Given the description of an element on the screen output the (x, y) to click on. 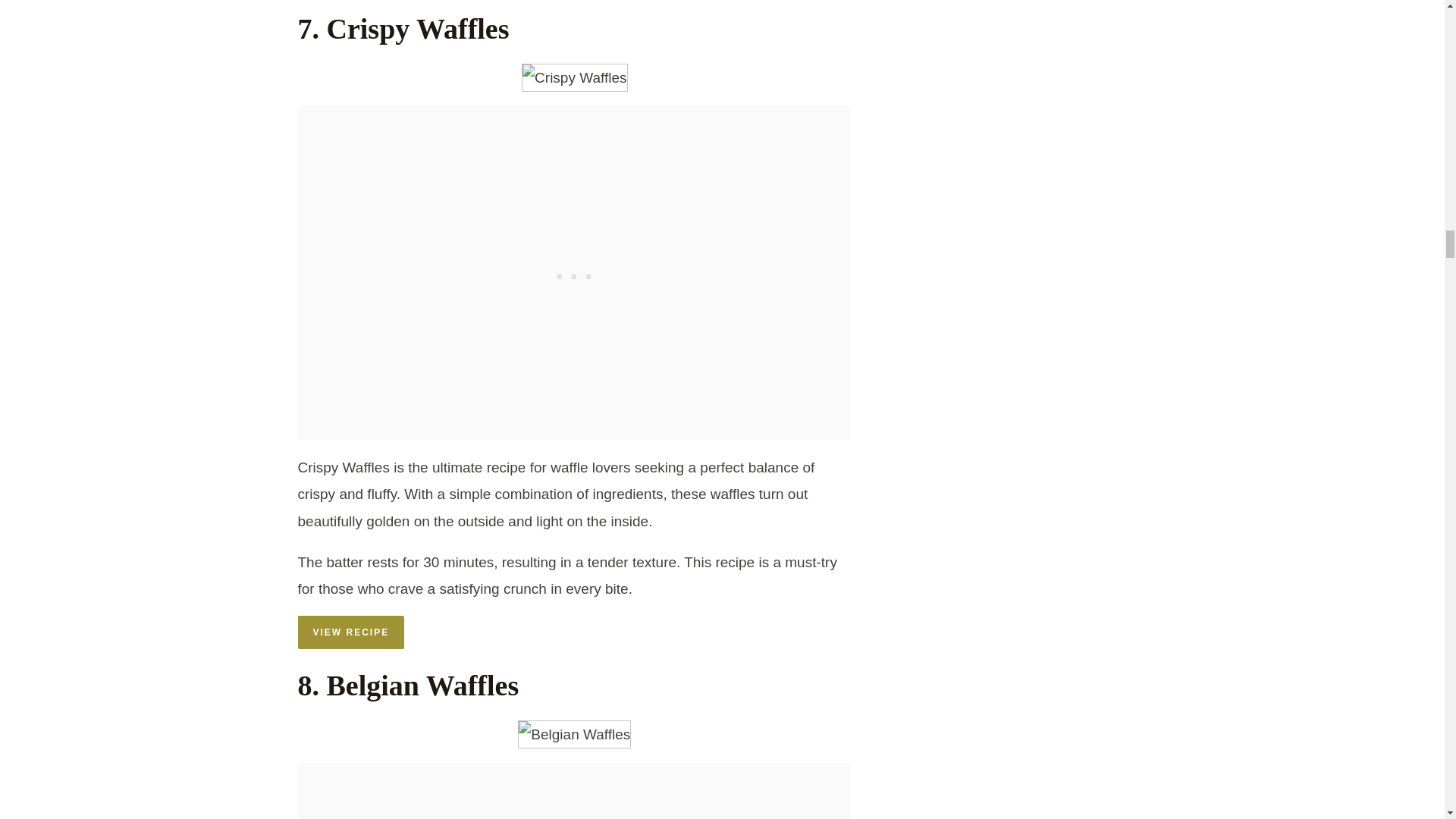
Crispy Waffles (574, 77)
Belgian Waffles (574, 734)
VIEW RECIPE (350, 632)
